Given the description of an element on the screen output the (x, y) to click on. 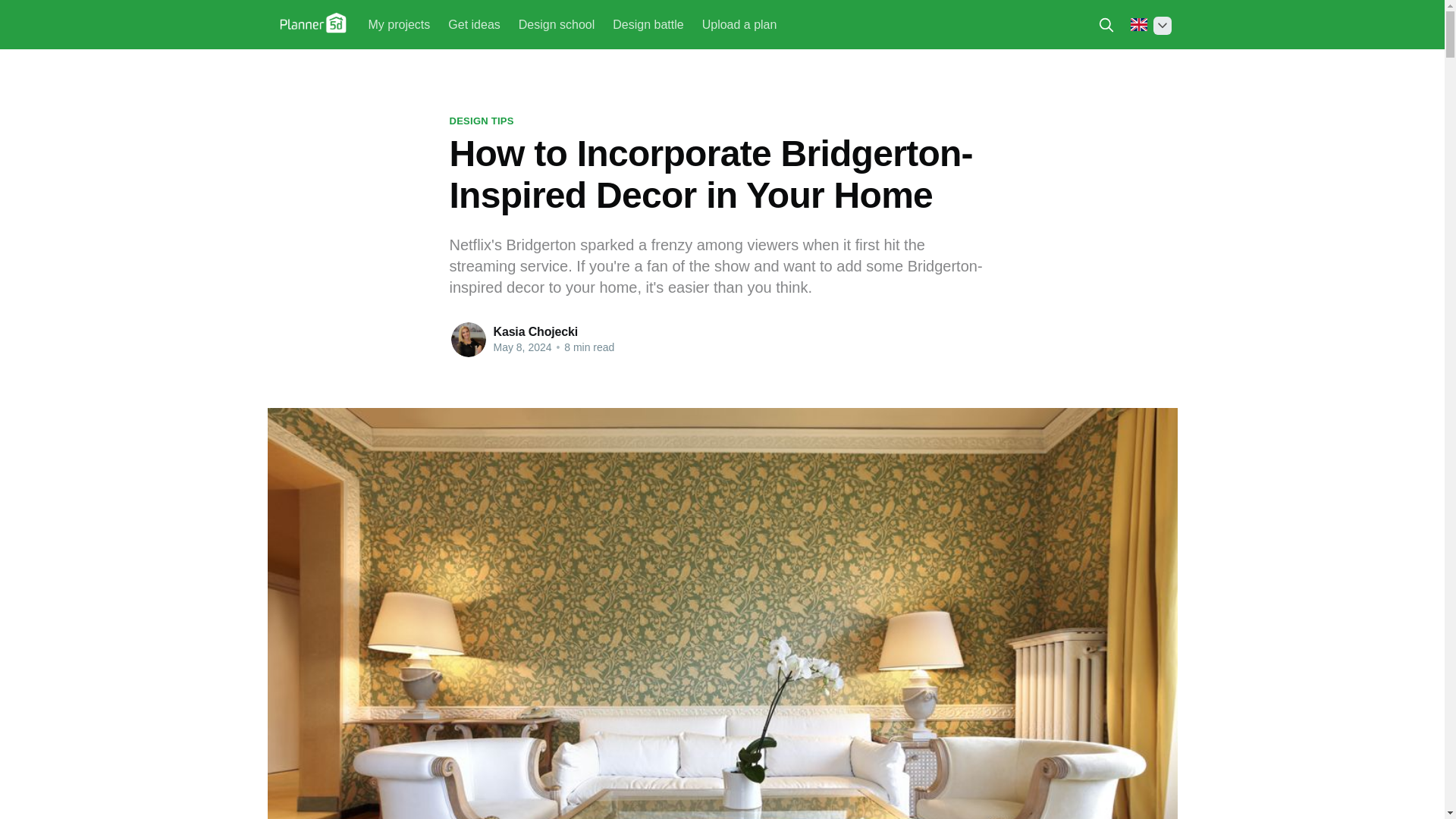
Upload a plan (739, 24)
Get ideas (473, 24)
Design school (556, 24)
Kasia Chojecki (535, 331)
Design battle (647, 24)
My projects (399, 24)
DESIGN TIPS (480, 120)
